Given the description of an element on the screen output the (x, y) to click on. 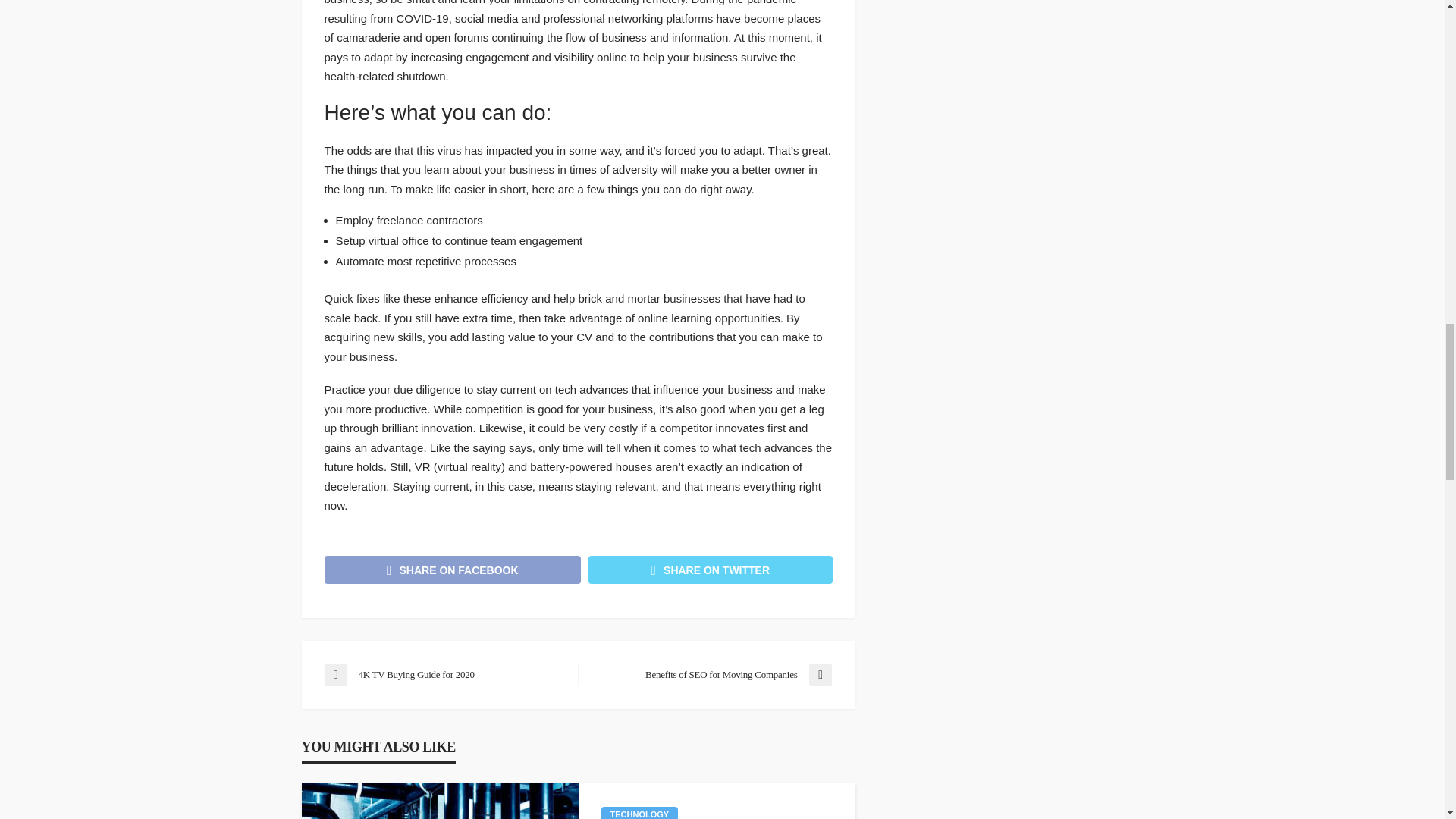
4K TV Buying Guide for 2020 (443, 674)
Benefits of SEO for Moving Companies (711, 674)
TECHNOLOGY (638, 812)
4K TV Buying Guide for 2020 (443, 674)
SHARE ON TWITTER (709, 569)
SHARE ON FACEBOOK (452, 569)
